Given the description of an element on the screen output the (x, y) to click on. 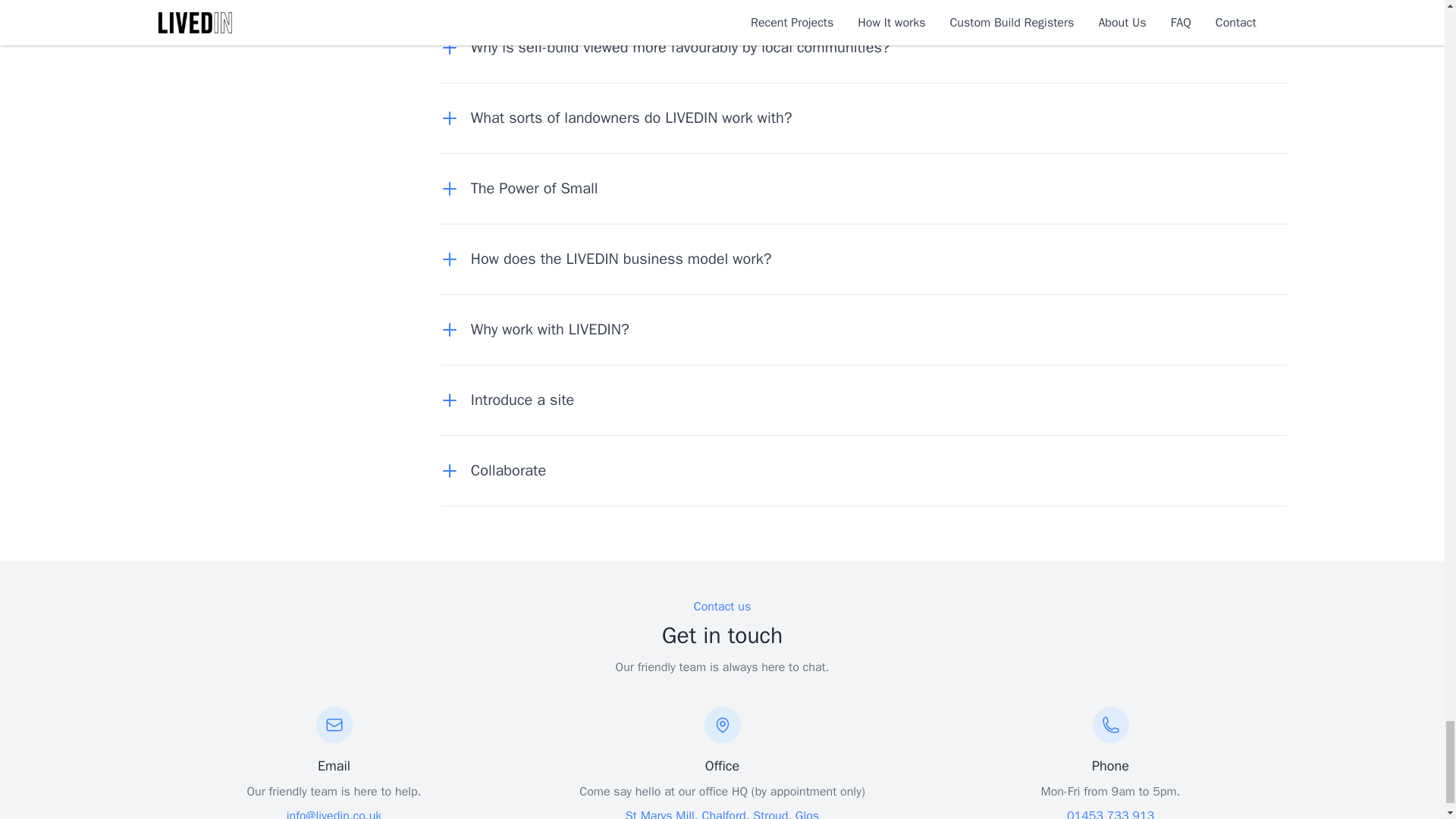
What sorts of landowners do LIVEDIN work with? (623, 117)
Collaborate (499, 470)
The Power of Small (525, 188)
Why work with LIVEDIN? (541, 329)
How does the LIVEDIN business model work? (612, 259)
Introduce a site (513, 400)
